Given the description of an element on the screen output the (x, y) to click on. 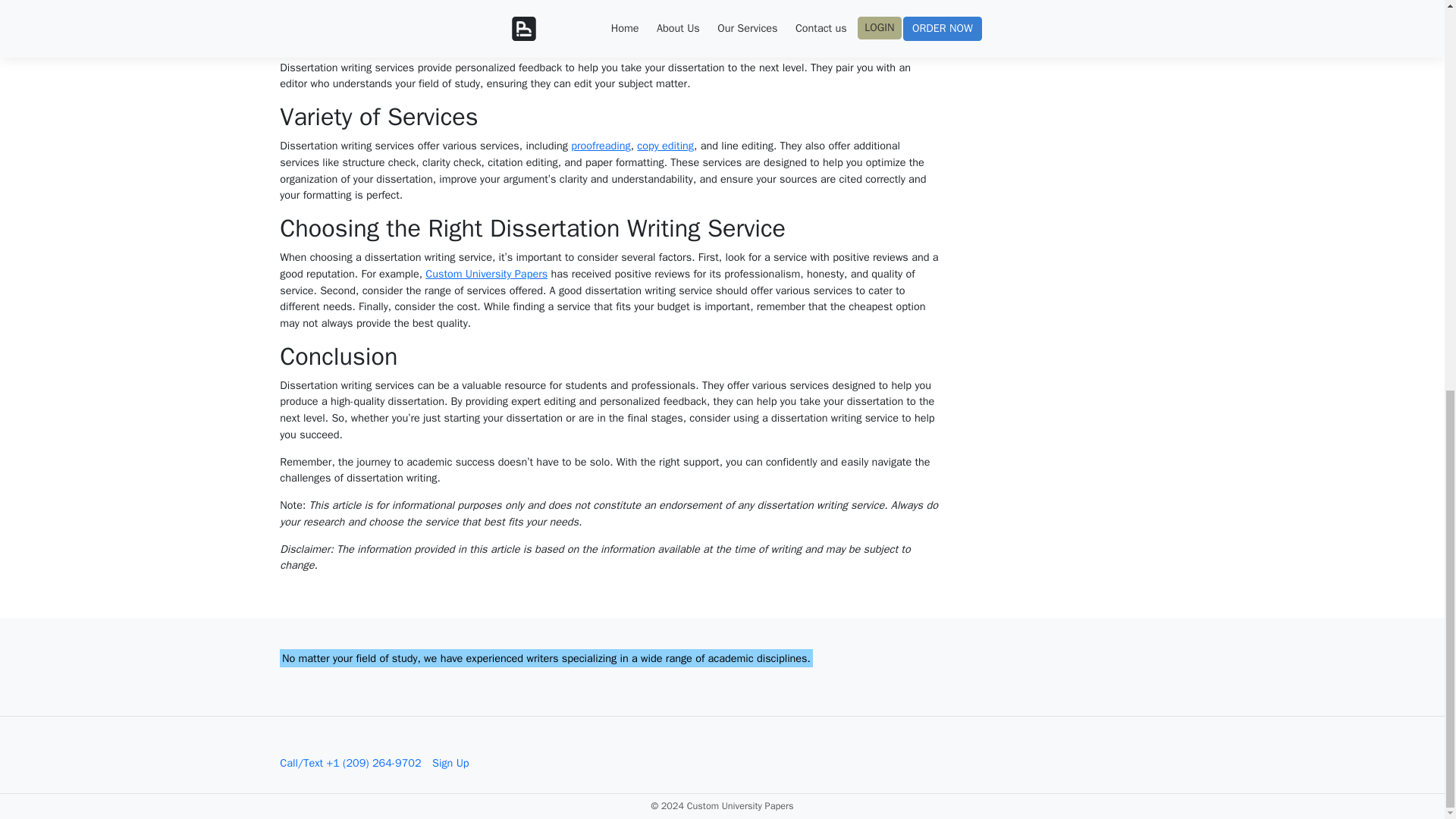
Custom University Papers (540, 386)
copy editing (739, 244)
proofreading (667, 244)
Custom University Papers (451, 69)
